Given the description of an element on the screen output the (x, y) to click on. 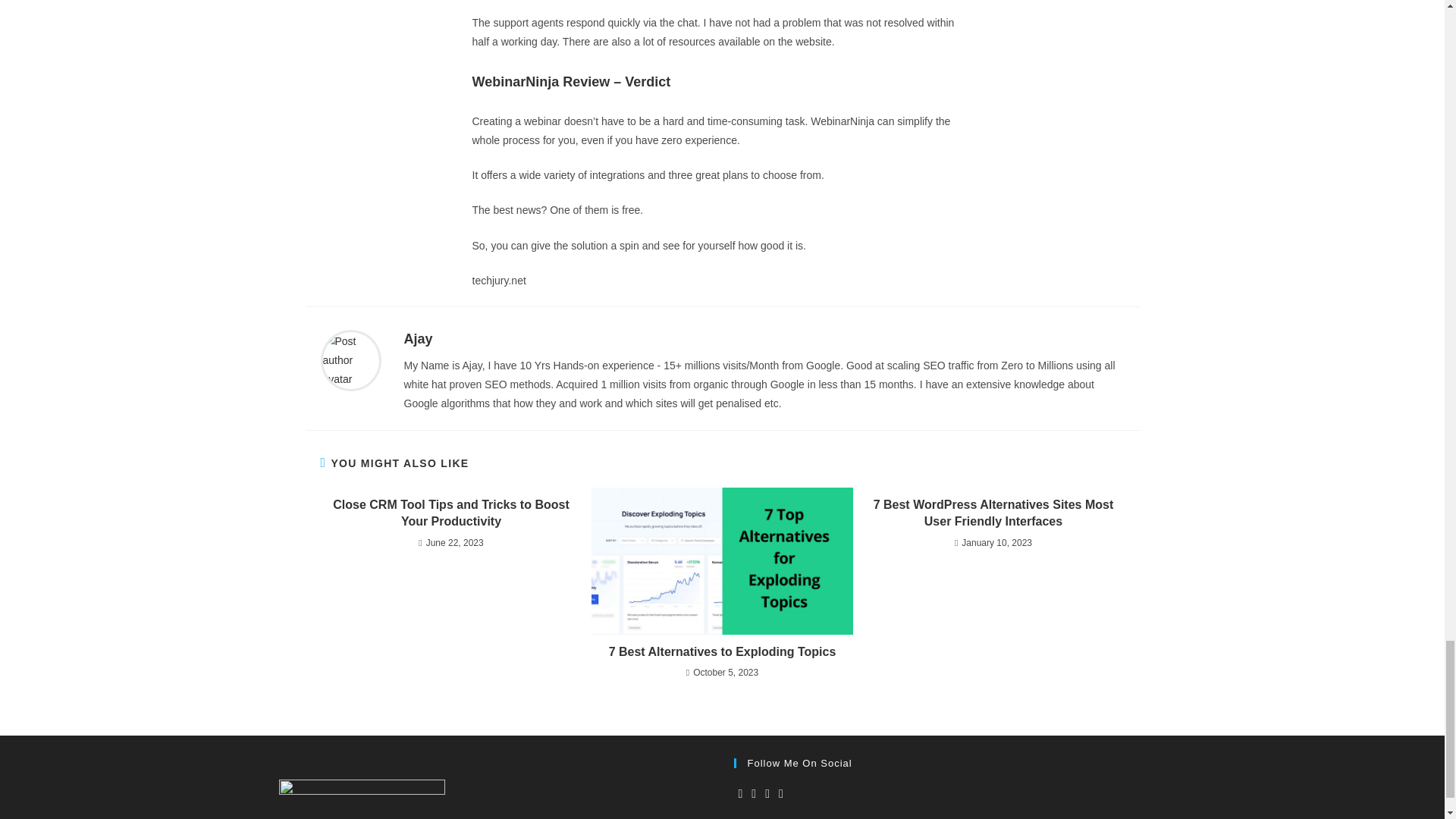
Ajay (417, 338)
Visit author page (417, 338)
7 Best Alternatives to Exploding Topics (721, 651)
Visit author page (350, 358)
Close CRM Tool Tips and Tricks to Boost Your Productivity (450, 513)
